Given the description of an element on the screen output the (x, y) to click on. 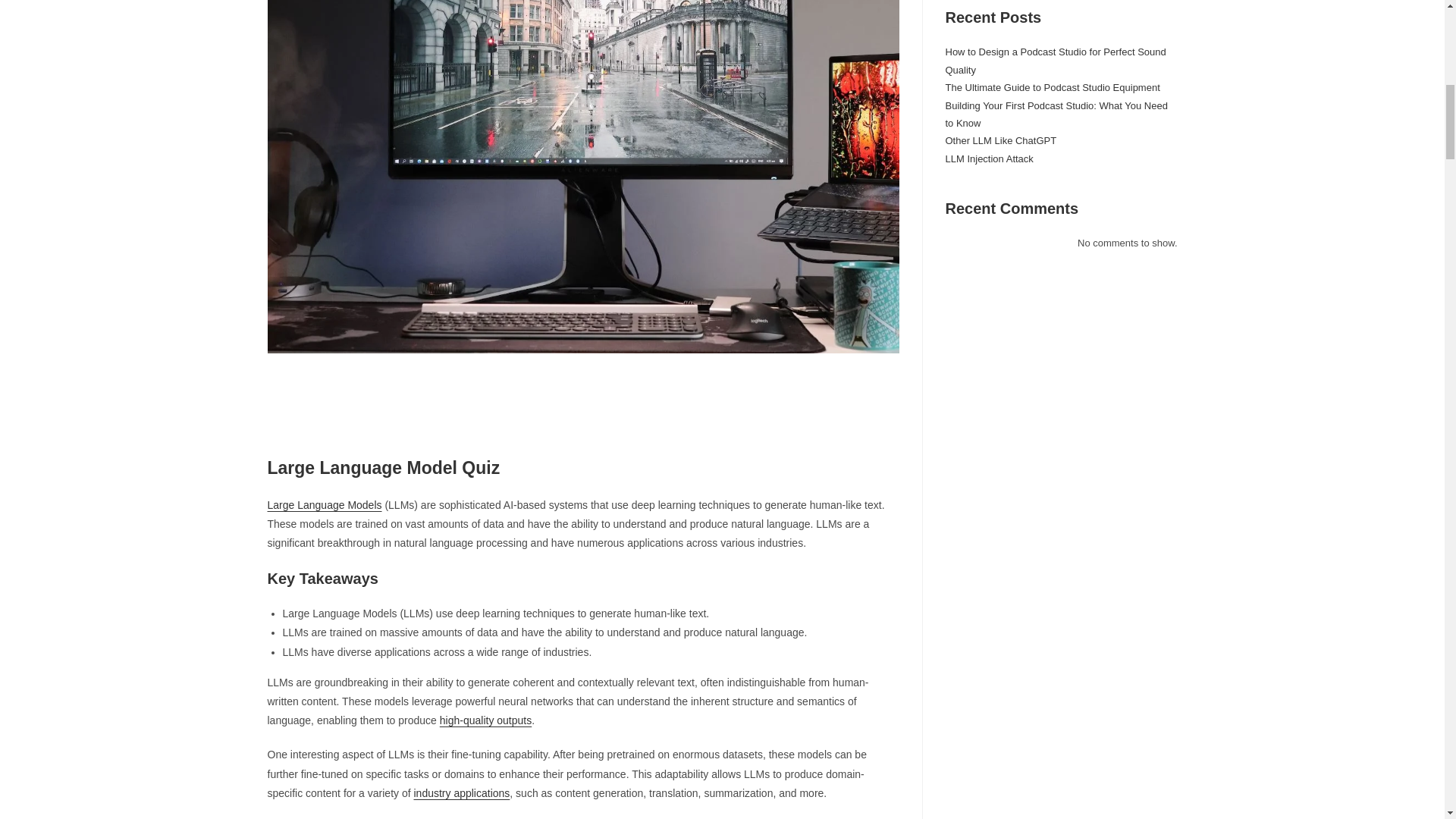
Large Language Models (323, 504)
industry applications (461, 793)
high-quality outputs (485, 720)
